Given the description of an element on the screen output the (x, y) to click on. 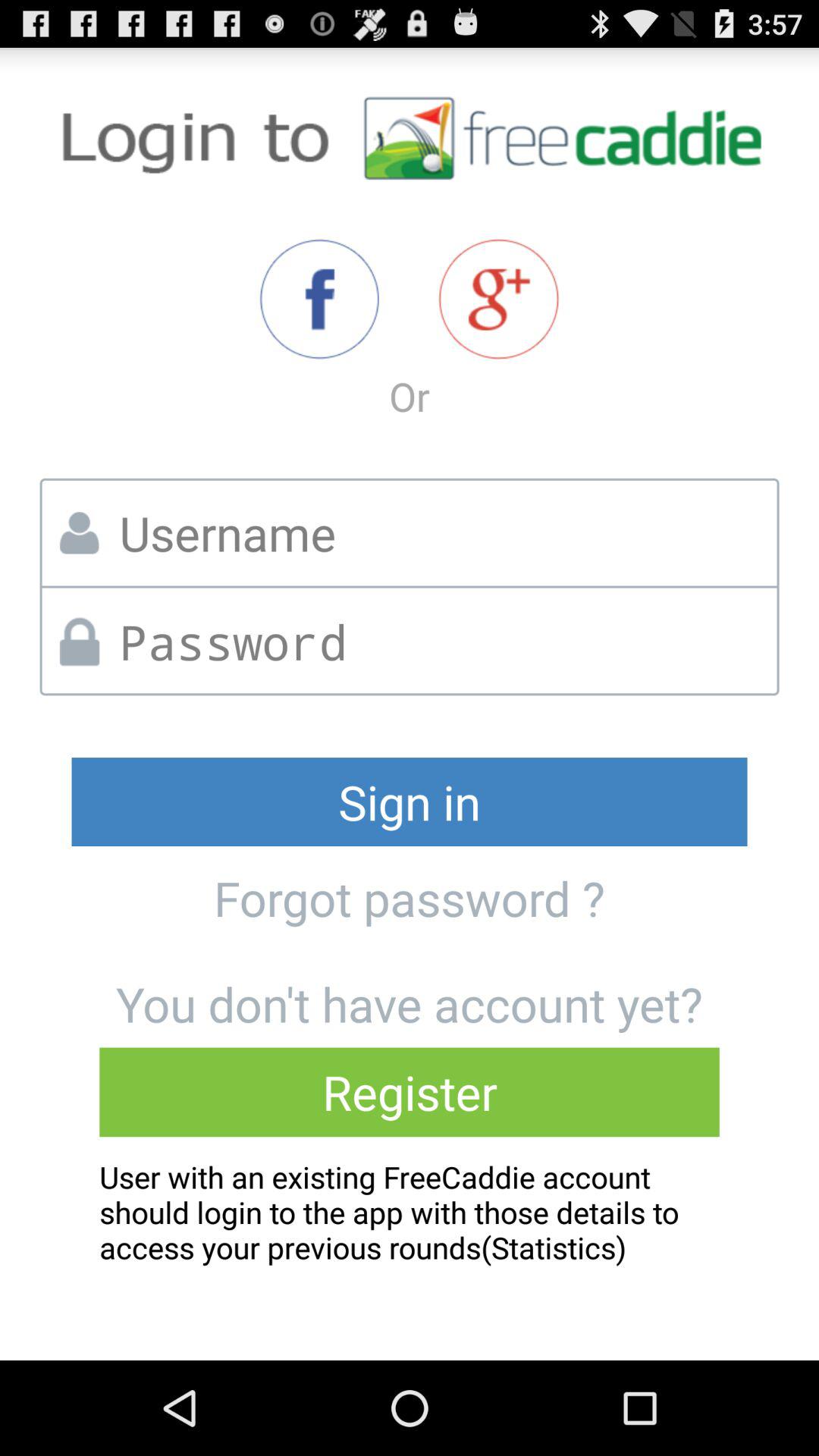
click the item above the user with an item (409, 1091)
